Given the description of an element on the screen output the (x, y) to click on. 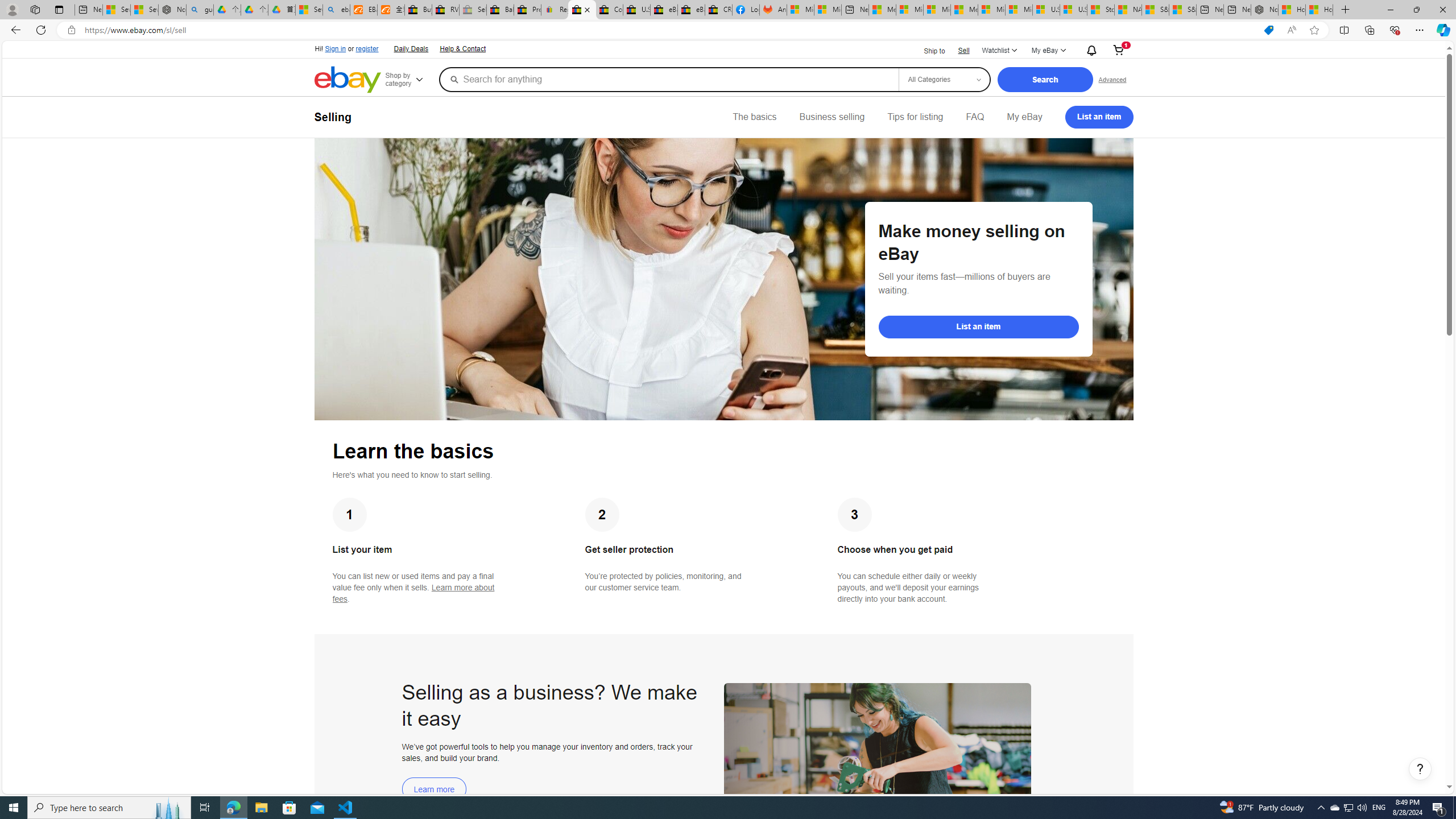
Business selling (831, 116)
register (366, 49)
Tips for listing (914, 116)
Daily Deals (411, 49)
Expand Cart (1118, 50)
Sell (963, 49)
